Given the description of an element on the screen output the (x, y) to click on. 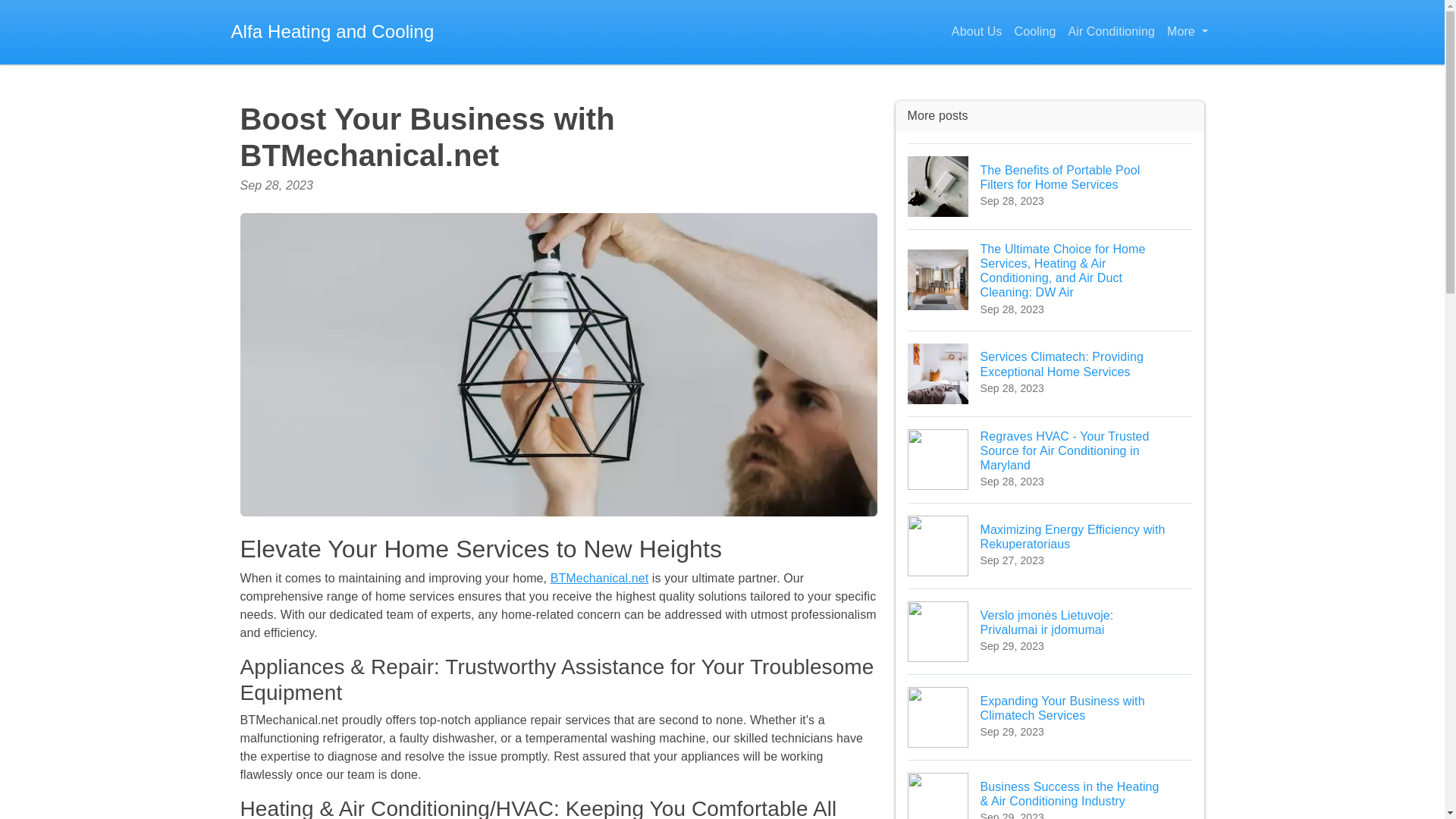
More (1186, 32)
Cooling (1034, 32)
About Us (976, 32)
BTMechanical.net (599, 577)
Alfa Heating and Cooling (331, 31)
Air Conditioning (1110, 32)
